Given the description of an element on the screen output the (x, y) to click on. 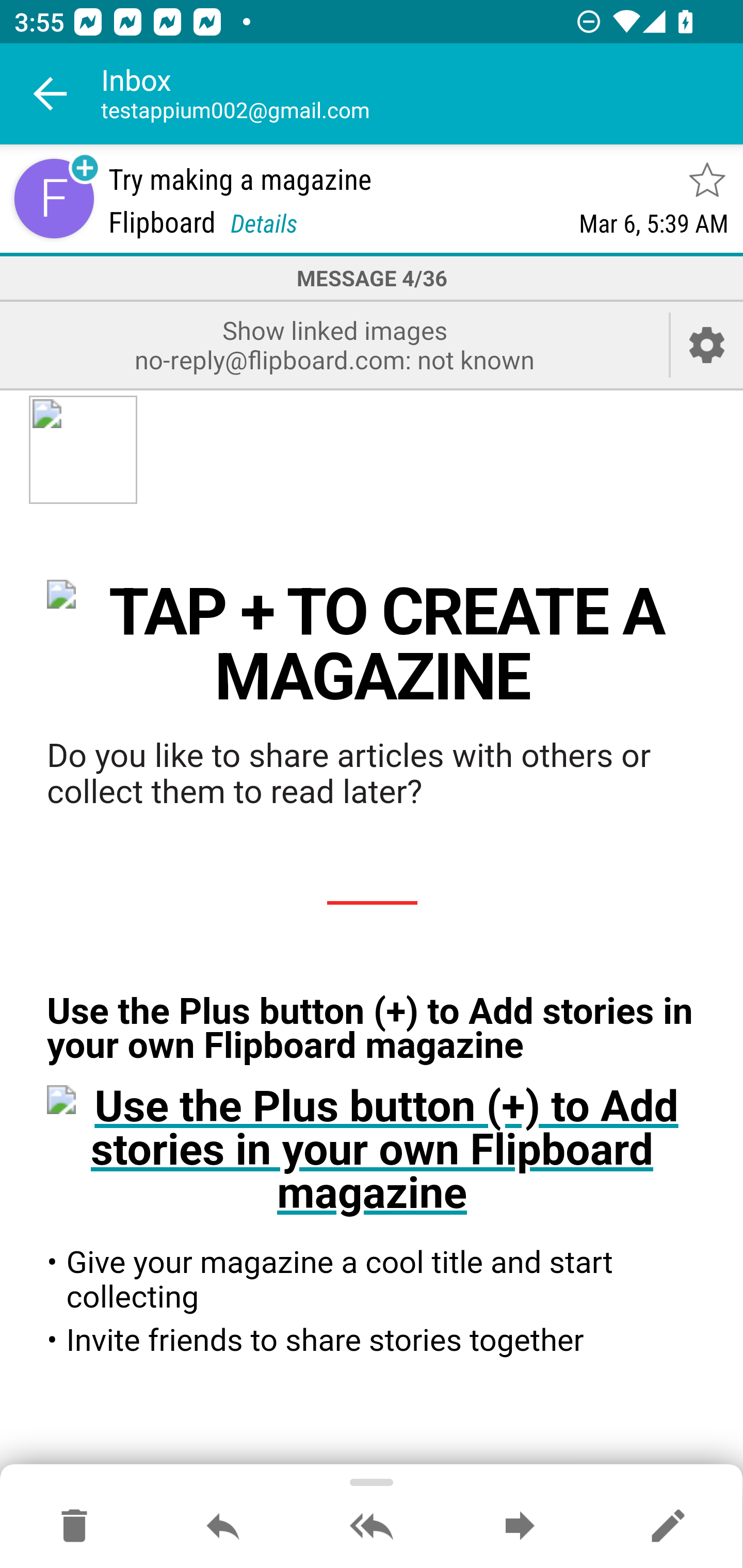
Navigate up (50, 93)
Inbox testappium002@gmail.com (422, 93)
Sender contact button (53, 198)
Account setup (706, 344)
Move to Deleted (74, 1527)
Reply (222, 1527)
Reply all (371, 1527)
Forward (519, 1527)
Reply as new (667, 1527)
